Given the description of an element on the screen output the (x, y) to click on. 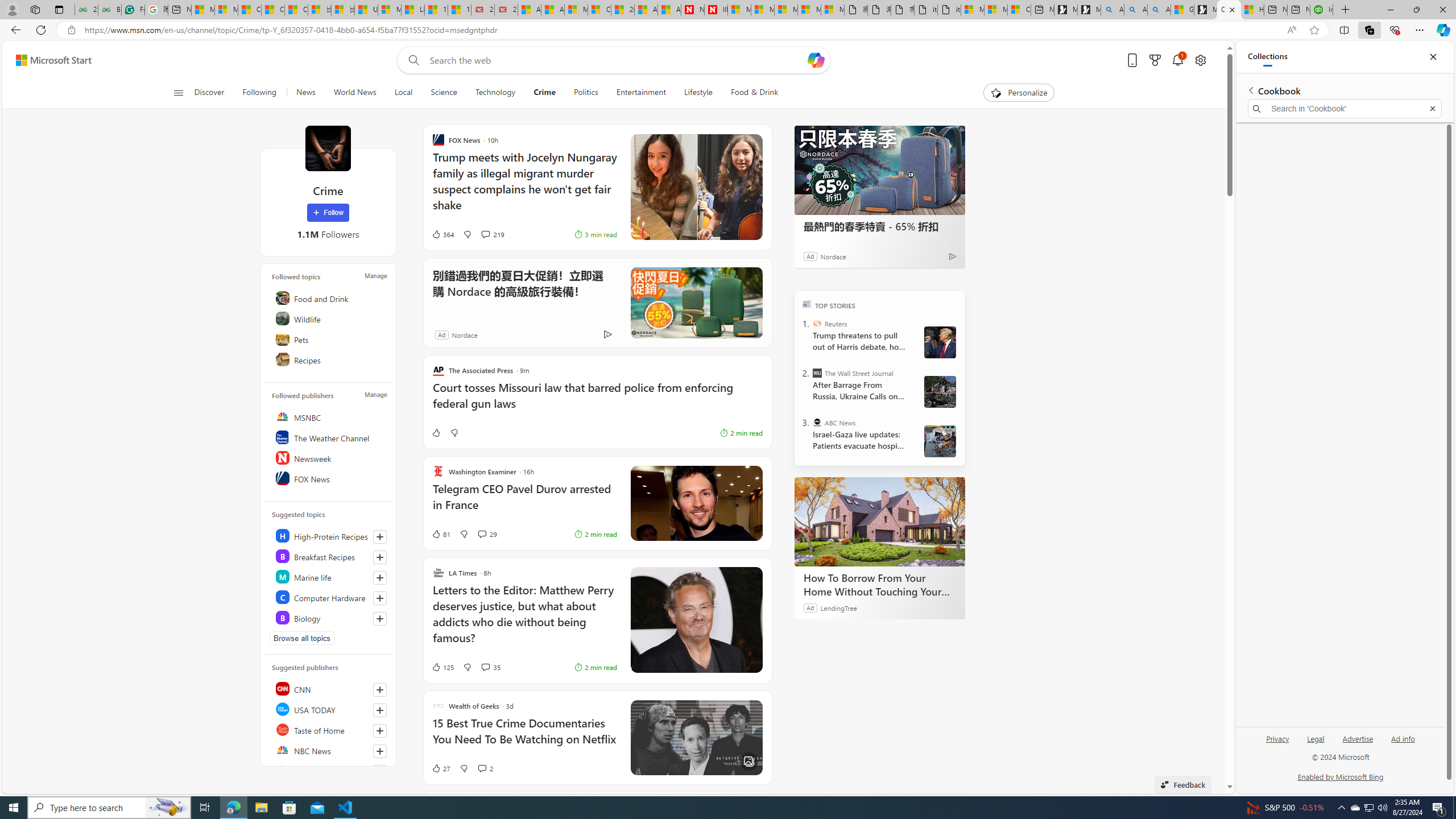
Telegram CEO Pavel Durov arrested in France (524, 502)
